Given the description of an element on the screen output the (x, y) to click on. 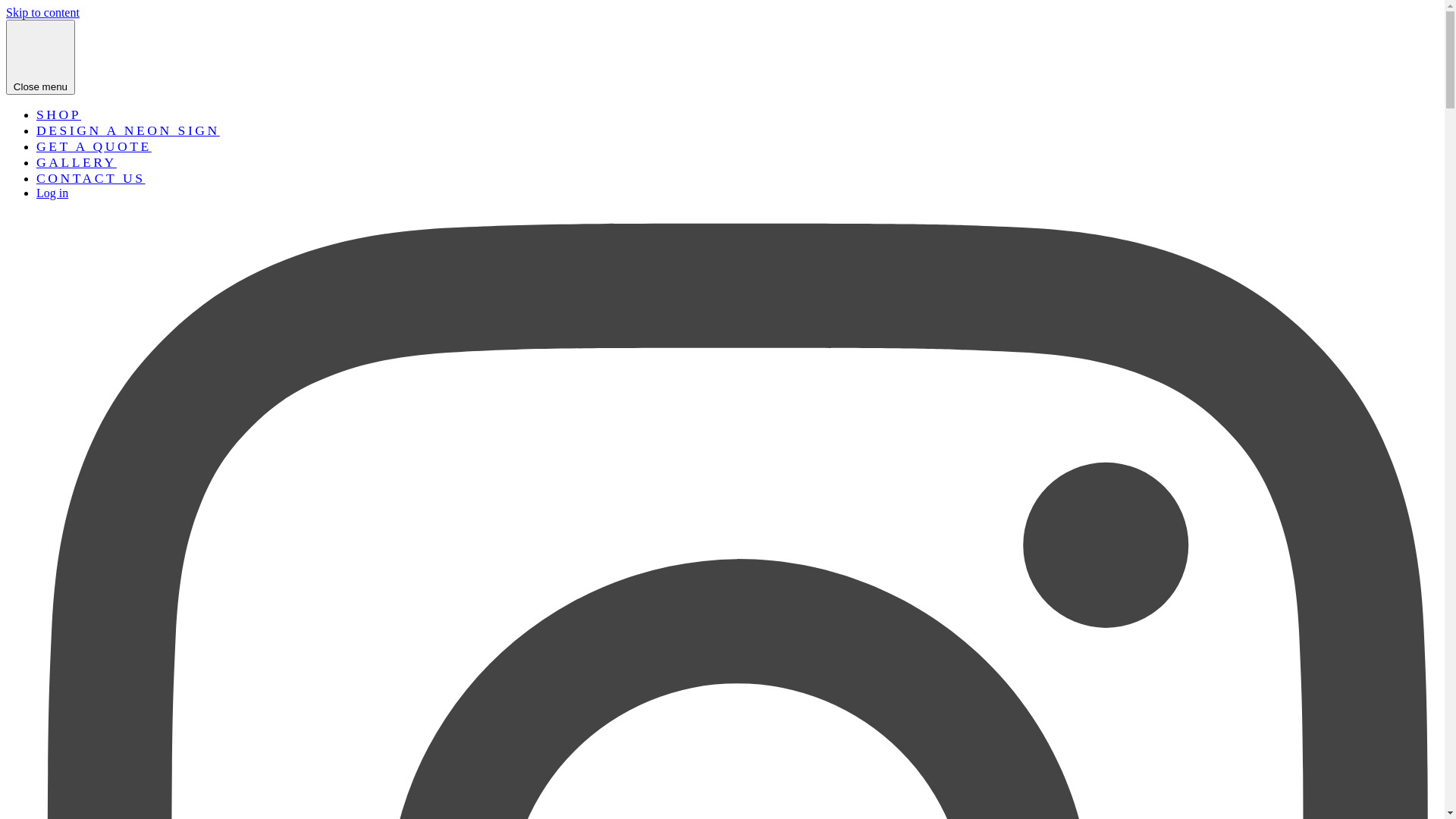
CONTACT US Element type: text (90, 177)
SHOP Element type: text (58, 114)
Close menu Element type: text (40, 56)
Skip to content Element type: text (42, 12)
DESIGN A NEON SIGN Element type: text (127, 130)
GALLERY Element type: text (76, 161)
Log in Element type: text (52, 192)
GET A QUOTE Element type: text (93, 145)
